Given the description of an element on the screen output the (x, y) to click on. 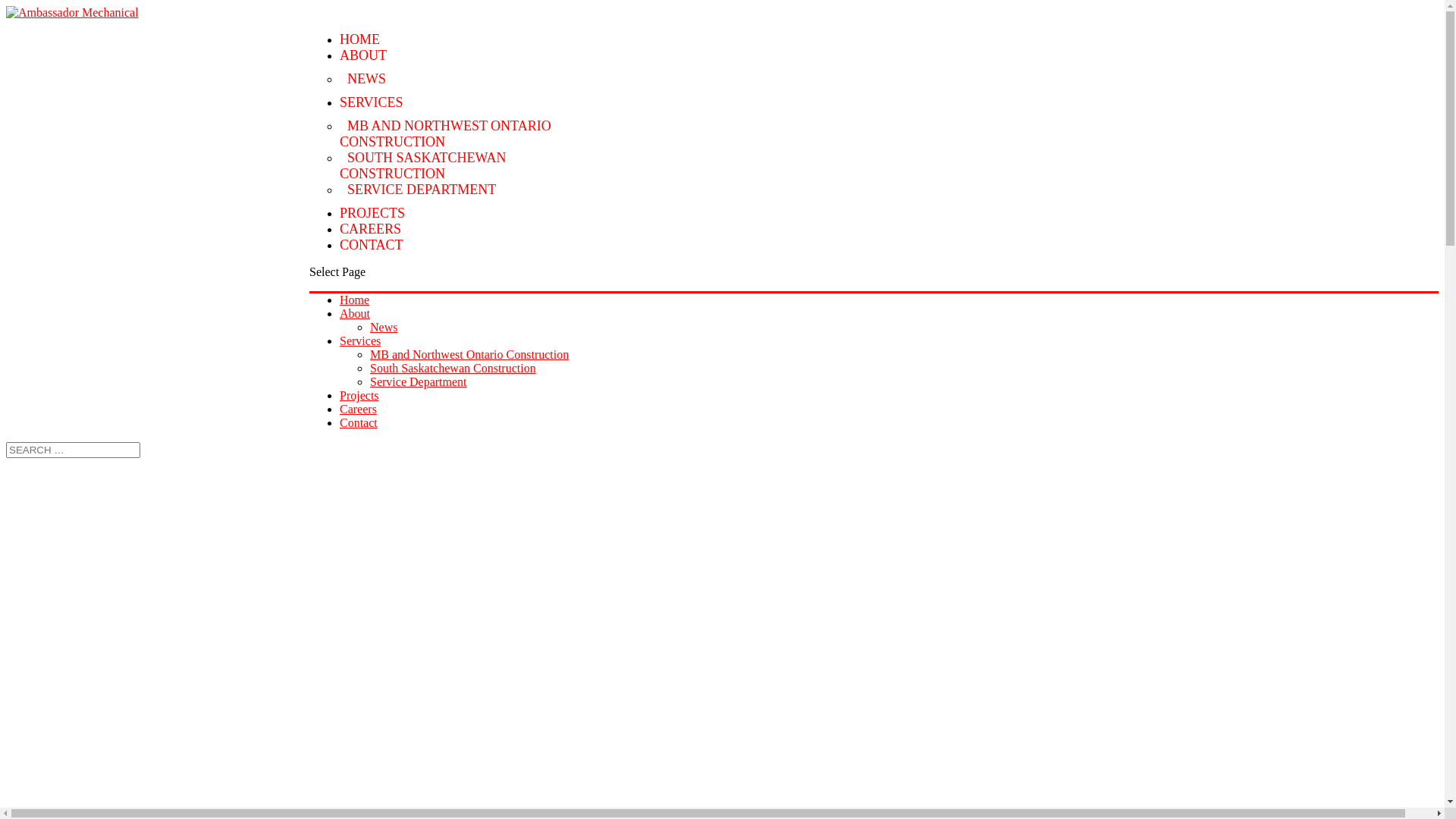
Search for: Element type: hover (73, 450)
SOUTH SASKATCHEWAN CONSTRUCTION Element type: text (422, 165)
HOME Element type: text (359, 39)
MB AND NORTHWEST ONTARIO CONSTRUCTION Element type: text (445, 133)
CAREERS Element type: text (370, 228)
Careers Element type: text (357, 408)
News Element type: text (383, 326)
Contact Element type: text (358, 422)
About Element type: text (354, 313)
SERVICE DEPARTMENT Element type: text (421, 189)
ABOUT Element type: text (362, 54)
Projects Element type: text (359, 395)
Home Element type: text (354, 299)
PROJECTS Element type: text (371, 212)
CONTACT Element type: text (371, 244)
Services Element type: text (359, 340)
NEWS Element type: text (366, 78)
SERVICES Element type: text (371, 101)
MB and Northwest Ontario Construction Element type: text (469, 354)
Service Department Element type: text (418, 381)
South Saskatchewan Construction Element type: text (453, 367)
